Given the description of an element on the screen output the (x, y) to click on. 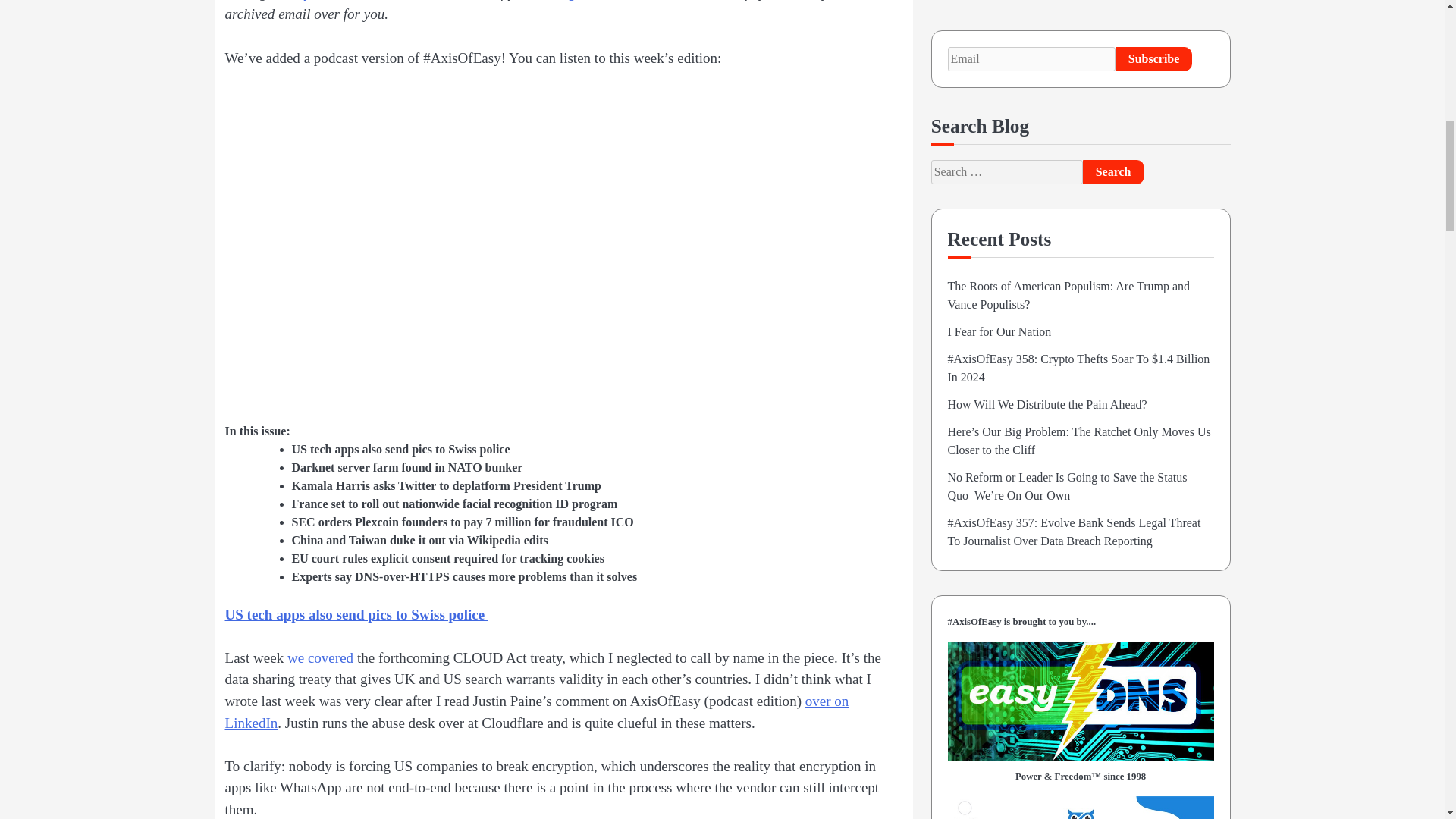
to easyMail (303, 0)
Cron job monitoring and cron scheduler by Cronly (1080, 318)
over on LinkedIn (536, 711)
we covered (319, 657)
US tech apps also send pics to Swiss police  (355, 614)
